Given the description of an element on the screen output the (x, y) to click on. 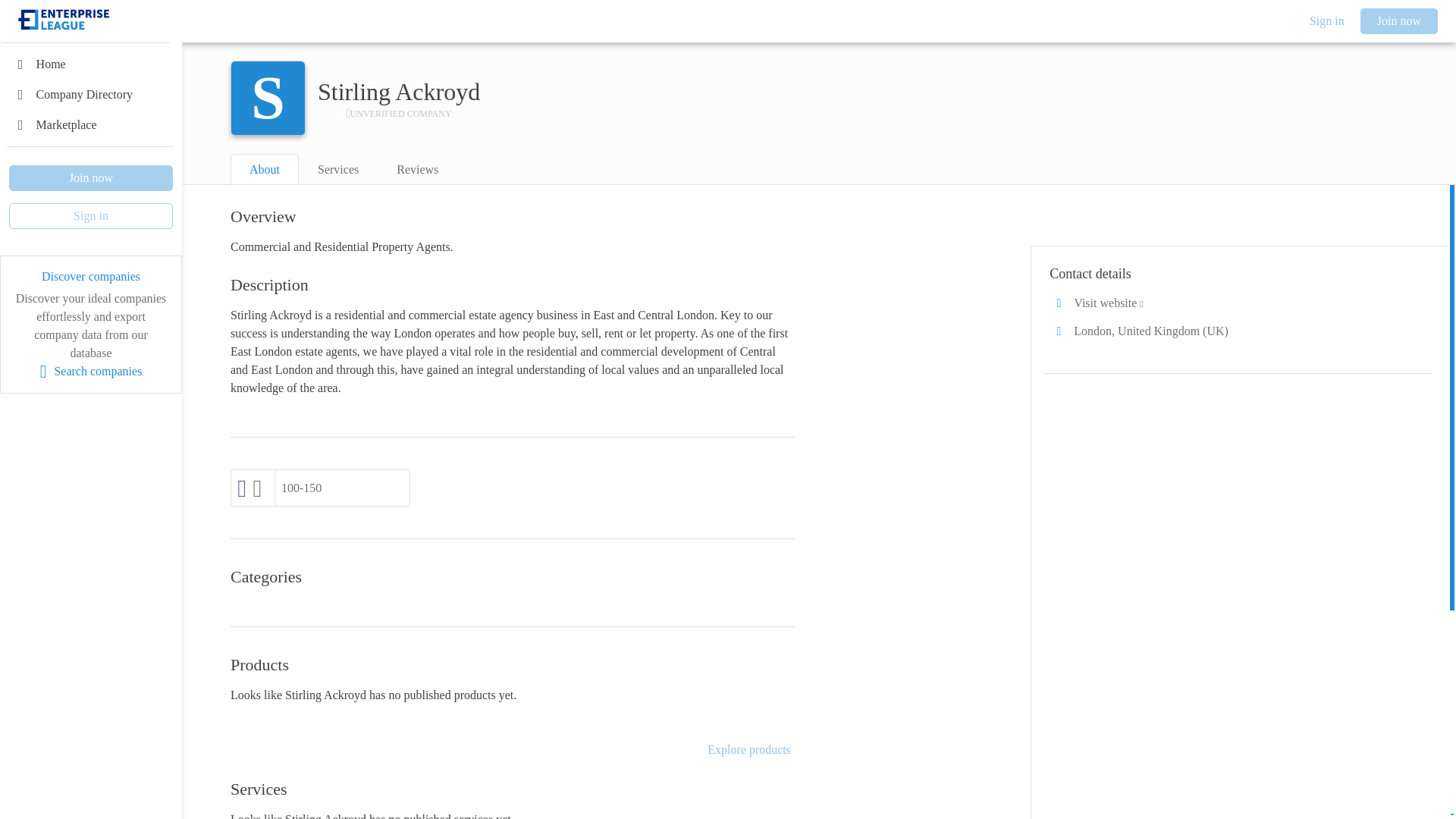
S (267, 98)
Marketplace (91, 124)
Sign in (90, 216)
Home (91, 64)
Company Directory (91, 94)
Visit website (1237, 303)
Join now (90, 177)
Sign in (1327, 21)
Join now (1398, 21)
Explore products (748, 749)
